Given the description of an element on the screen output the (x, y) to click on. 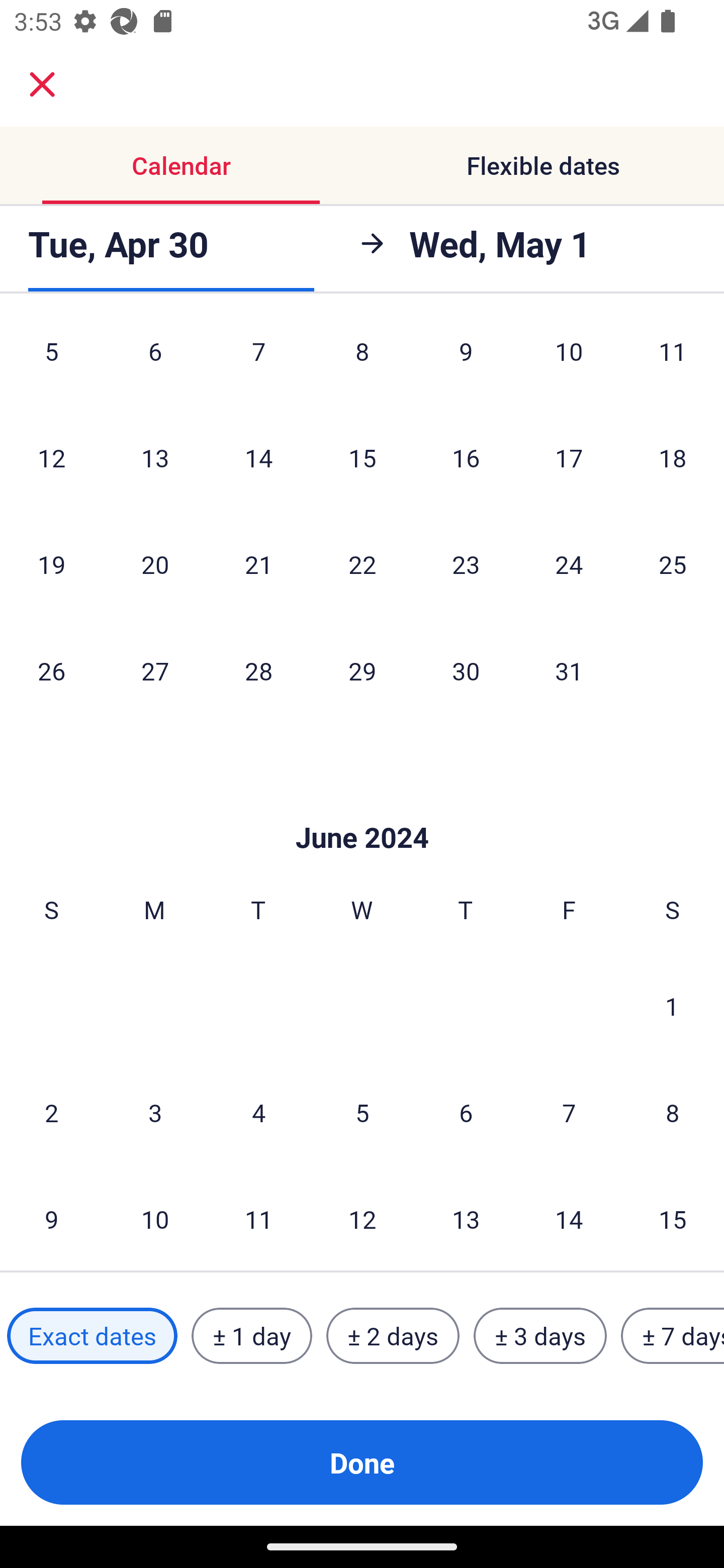
close. (42, 84)
Flexible dates (542, 164)
5 Sunday, May 5, 2024 (51, 361)
6 Monday, May 6, 2024 (155, 361)
7 Tuesday, May 7, 2024 (258, 361)
8 Wednesday, May 8, 2024 (362, 361)
9 Thursday, May 9, 2024 (465, 361)
10 Friday, May 10, 2024 (569, 361)
11 Saturday, May 11, 2024 (672, 361)
12 Sunday, May 12, 2024 (51, 457)
13 Monday, May 13, 2024 (155, 457)
14 Tuesday, May 14, 2024 (258, 457)
15 Wednesday, May 15, 2024 (362, 457)
16 Thursday, May 16, 2024 (465, 457)
17 Friday, May 17, 2024 (569, 457)
18 Saturday, May 18, 2024 (672, 457)
19 Sunday, May 19, 2024 (51, 564)
20 Monday, May 20, 2024 (155, 564)
21 Tuesday, May 21, 2024 (258, 564)
22 Wednesday, May 22, 2024 (362, 564)
23 Thursday, May 23, 2024 (465, 564)
24 Friday, May 24, 2024 (569, 564)
25 Saturday, May 25, 2024 (672, 564)
26 Sunday, May 26, 2024 (51, 670)
27 Monday, May 27, 2024 (155, 670)
28 Tuesday, May 28, 2024 (258, 670)
29 Wednesday, May 29, 2024 (362, 670)
30 Thursday, May 30, 2024 (465, 670)
31 Friday, May 31, 2024 (569, 670)
Skip to Done (362, 807)
1 Saturday, June 1, 2024 (672, 1005)
2 Sunday, June 2, 2024 (51, 1112)
3 Monday, June 3, 2024 (155, 1112)
4 Tuesday, June 4, 2024 (258, 1112)
5 Wednesday, June 5, 2024 (362, 1112)
6 Thursday, June 6, 2024 (465, 1112)
7 Friday, June 7, 2024 (569, 1112)
8 Saturday, June 8, 2024 (672, 1112)
9 Sunday, June 9, 2024 (51, 1219)
10 Monday, June 10, 2024 (155, 1219)
11 Tuesday, June 11, 2024 (258, 1219)
12 Wednesday, June 12, 2024 (362, 1219)
13 Thursday, June 13, 2024 (465, 1219)
14 Friday, June 14, 2024 (569, 1219)
15 Saturday, June 15, 2024 (672, 1219)
Exact dates (92, 1335)
± 1 day (251, 1335)
± 2 days (392, 1335)
± 3 days (539, 1335)
± 7 days (672, 1335)
Done (361, 1462)
